Given the description of an element on the screen output the (x, y) to click on. 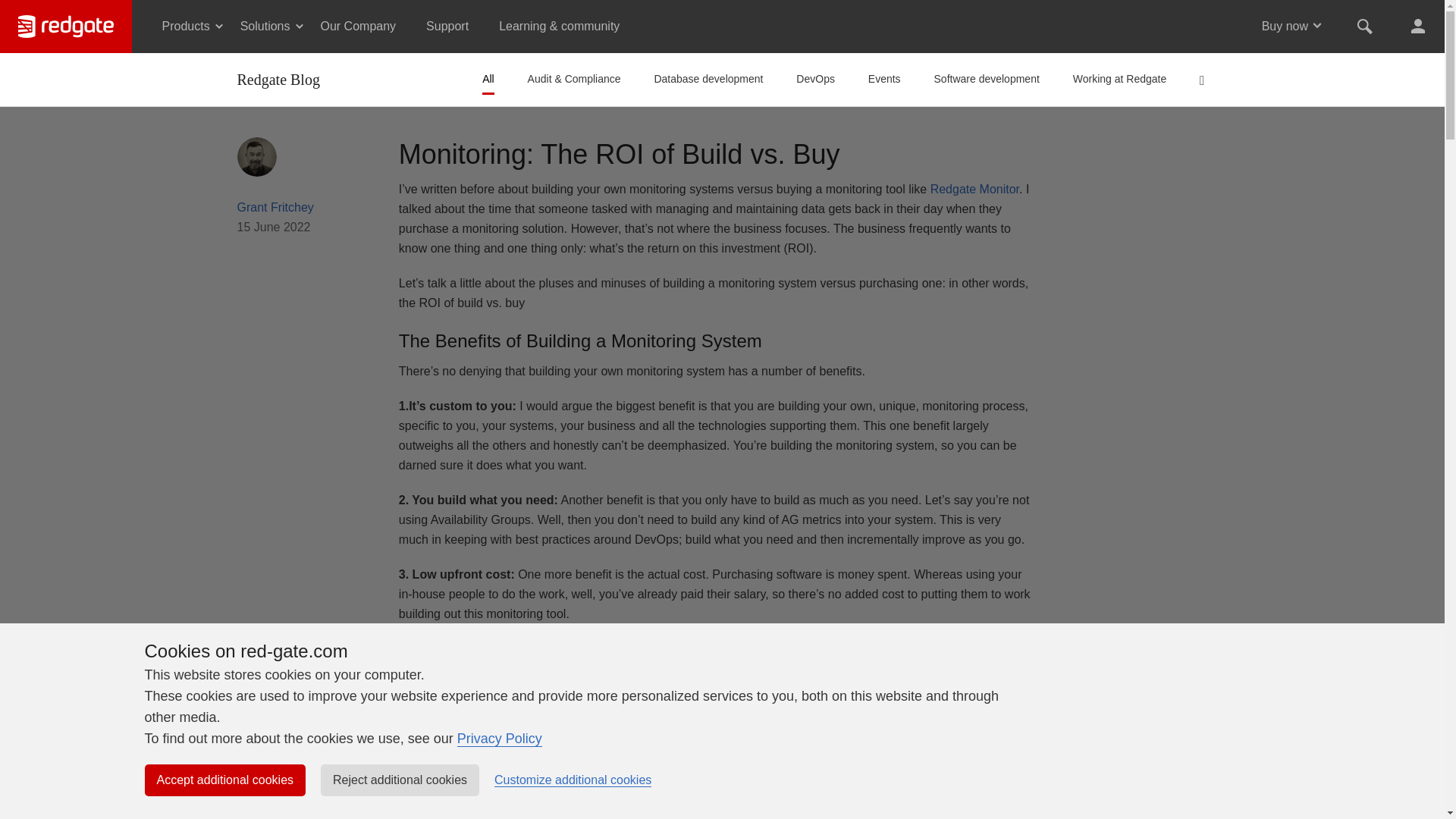
Products (186, 26)
Grant Fritchey (255, 155)
Posts by Grant Fritchey (274, 206)
Monitoring: The ROI of Build vs. Buy (619, 153)
Buy now (1284, 26)
Search the Redgate website (1364, 26)
